Given the description of an element on the screen output the (x, y) to click on. 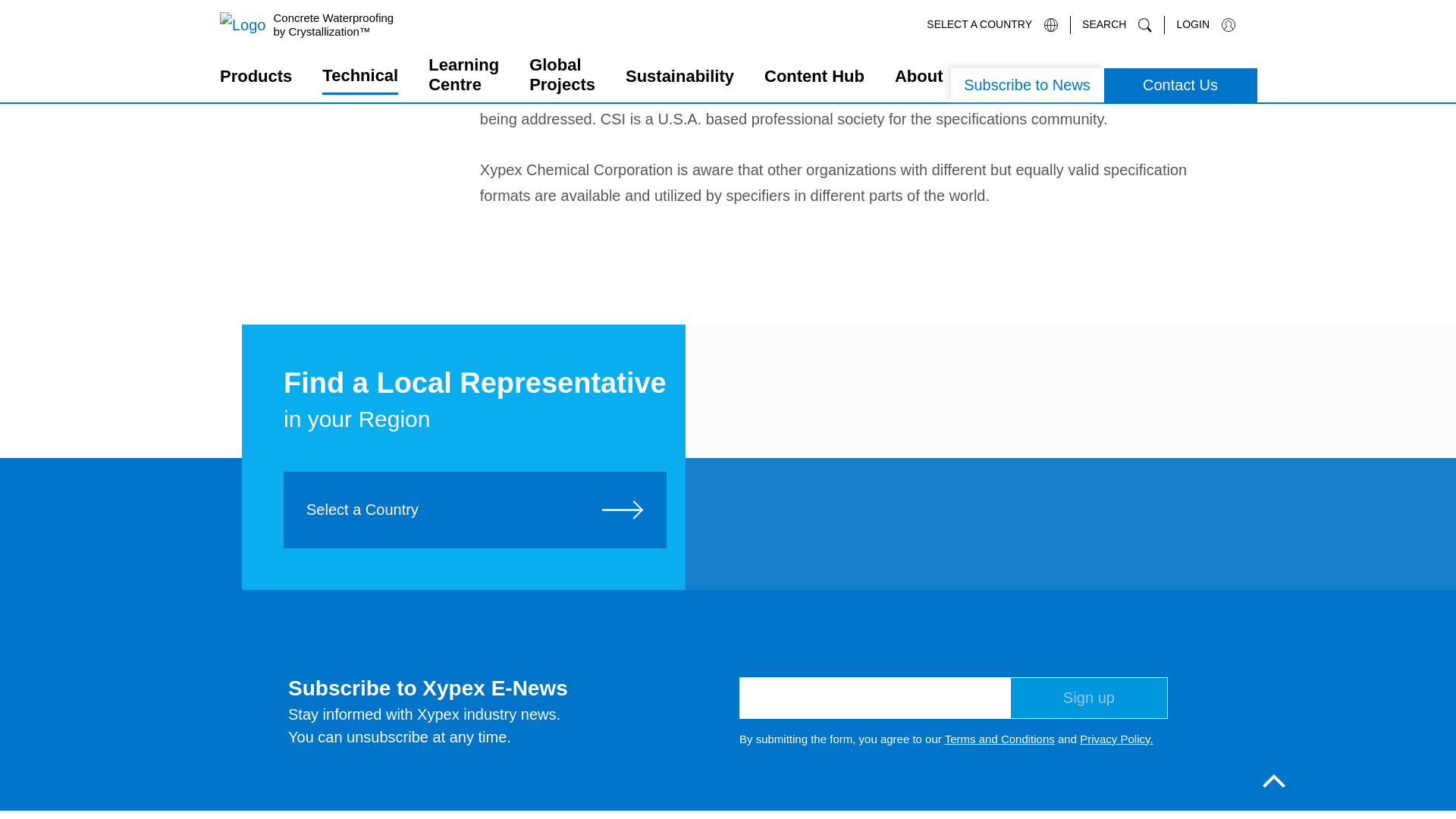
Sign up (1088, 698)
